Given the description of an element on the screen output the (x, y) to click on. 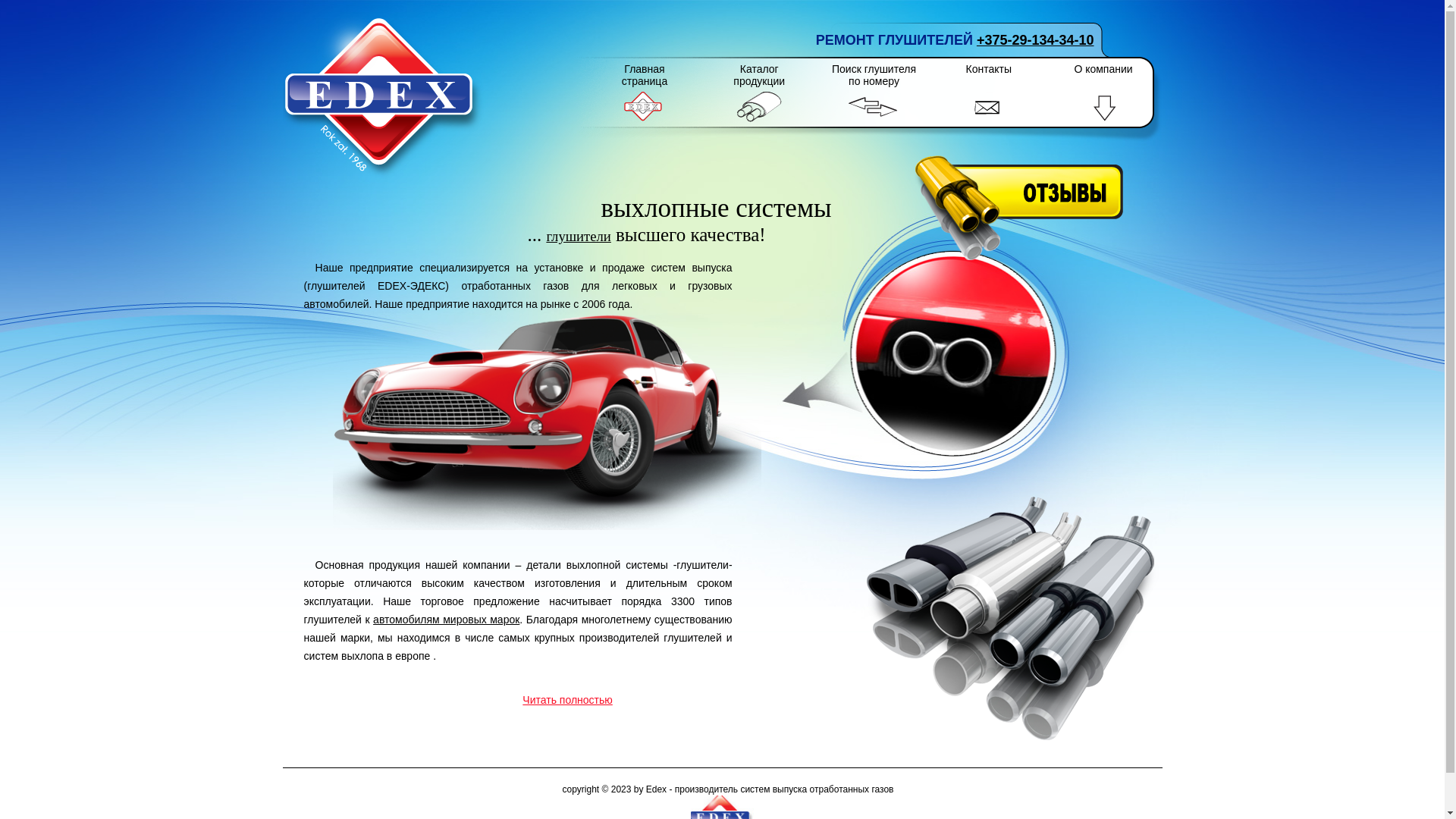
Edex Element type: hover (382, 96)
+375-29-134-34-10 Element type: text (1035, 39)
